Given the description of an element on the screen output the (x, y) to click on. 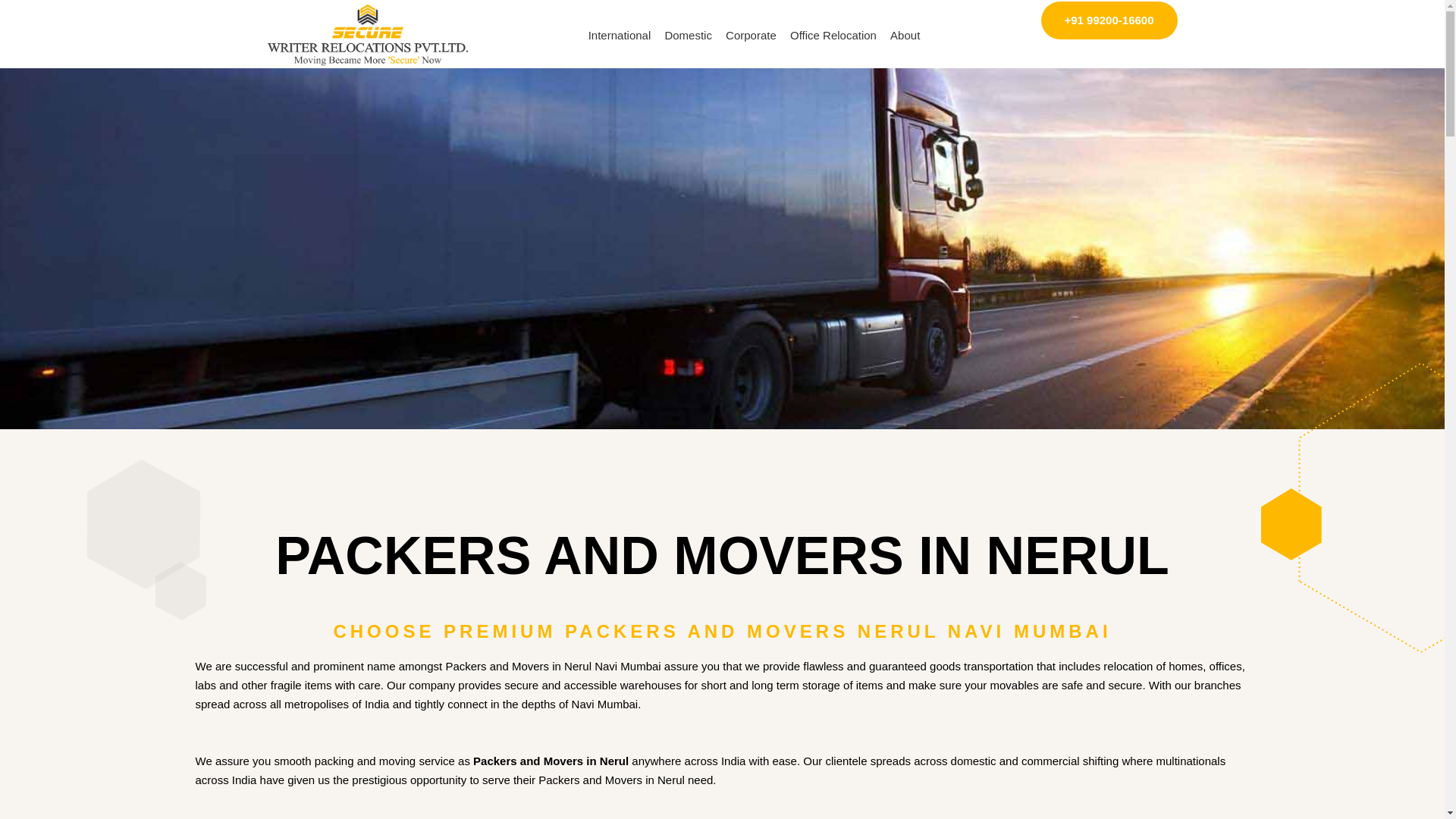
Office Relocation (833, 35)
Corporate (750, 35)
Domestic (687, 35)
International (619, 35)
About (904, 35)
